Given the description of an element on the screen output the (x, y) to click on. 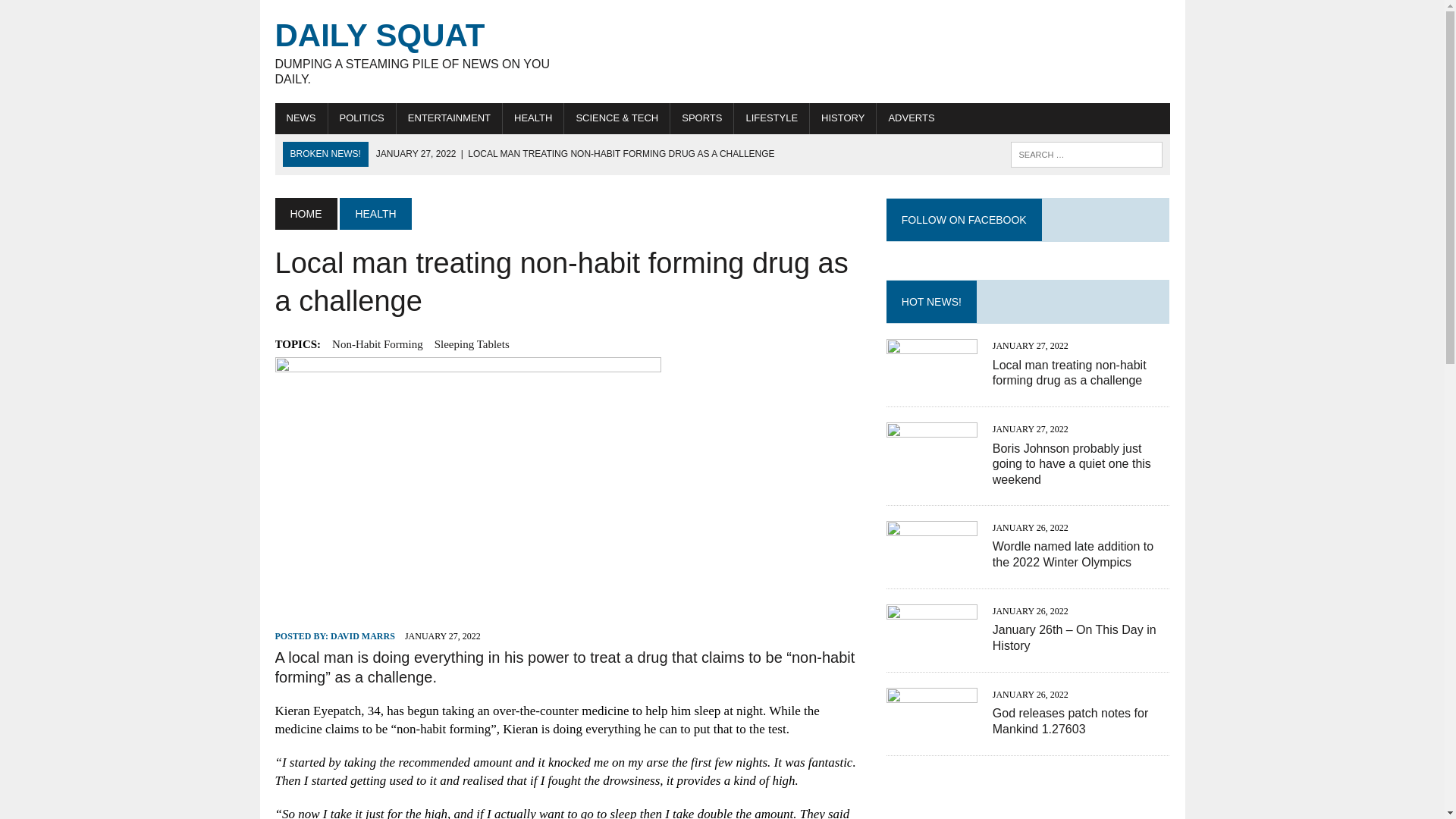
POLITICS (360, 118)
DAVID MARRS (362, 635)
ADVERTS (910, 118)
HEALTH (374, 214)
Sleeping Tablets (471, 343)
HOME (305, 214)
Local man treating non-habit forming drug as a challenge (574, 153)
Daily Squat (416, 51)
LIFESTYLE (771, 118)
Non-Habit Forming (377, 343)
Search (75, 14)
ENTERTAINMENT (449, 118)
NEWS (300, 118)
HEALTH (416, 51)
